Given the description of an element on the screen output the (x, y) to click on. 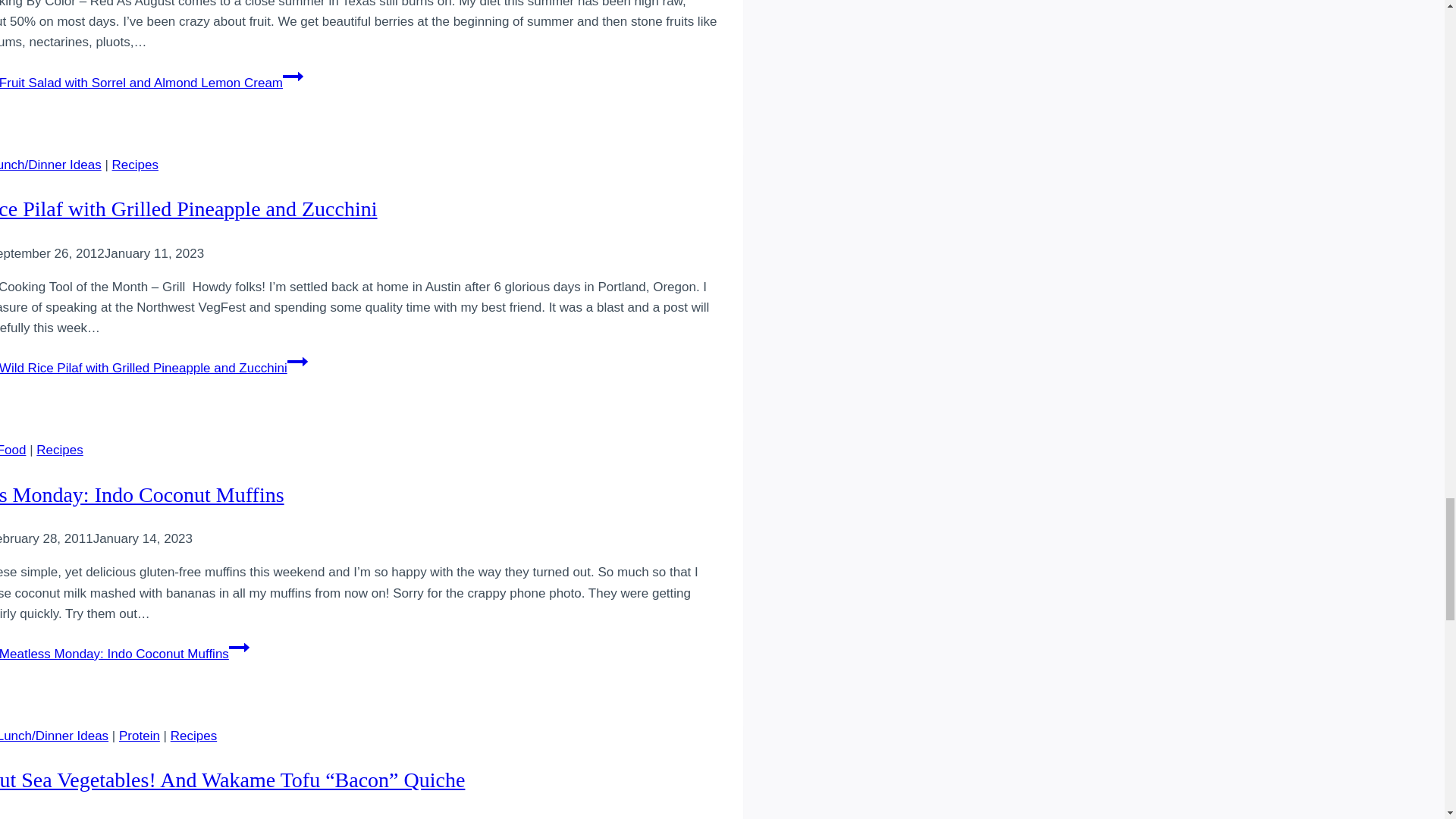
Continue (296, 361)
Continue (238, 647)
Recipes (59, 450)
Meatless Monday: Indo Coconut Muffins (141, 494)
Wild Rice Pilaf with Grilled Pineapple and Zucchini (188, 208)
Continue (292, 76)
Food (13, 450)
Recipes (135, 164)
